Given the description of an element on the screen output the (x, y) to click on. 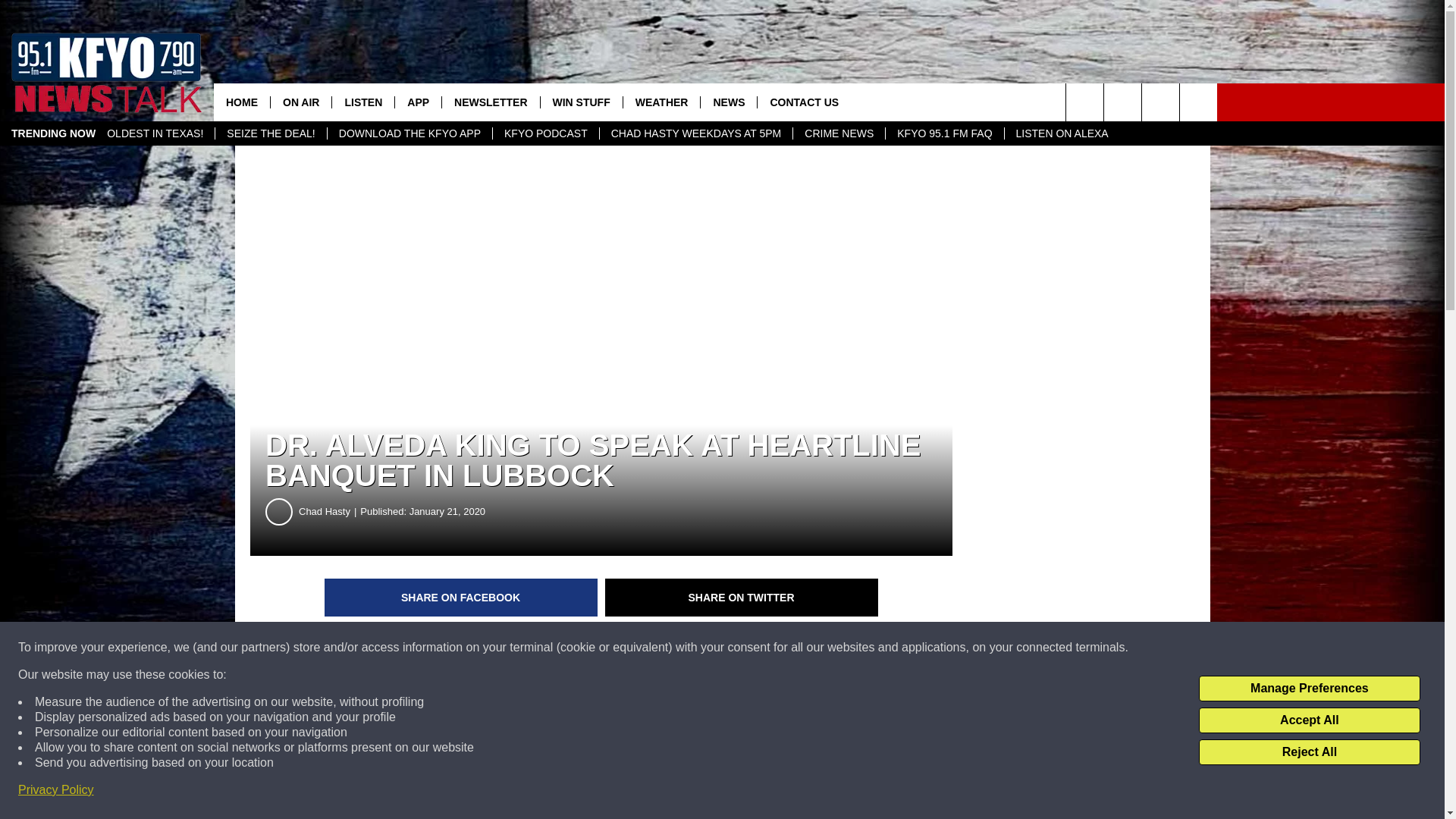
LISTEN (362, 102)
OLDEST IN TEXAS! (155, 133)
Accept All (1309, 720)
HOME (241, 102)
Reject All (1309, 751)
NEWSLETTER (489, 102)
WIN STUFF (581, 102)
APP (417, 102)
LISTEN ON ALEXA (1061, 133)
Share on Facebook (460, 597)
KFYO 95.1 FM FAQ (944, 133)
KFYO PODCAST (545, 133)
CHAD HASTY WEEKDAYS AT 5PM (695, 133)
SEIZE THE DEAL! (270, 133)
CRIME NEWS (838, 133)
